Given the description of an element on the screen output the (x, y) to click on. 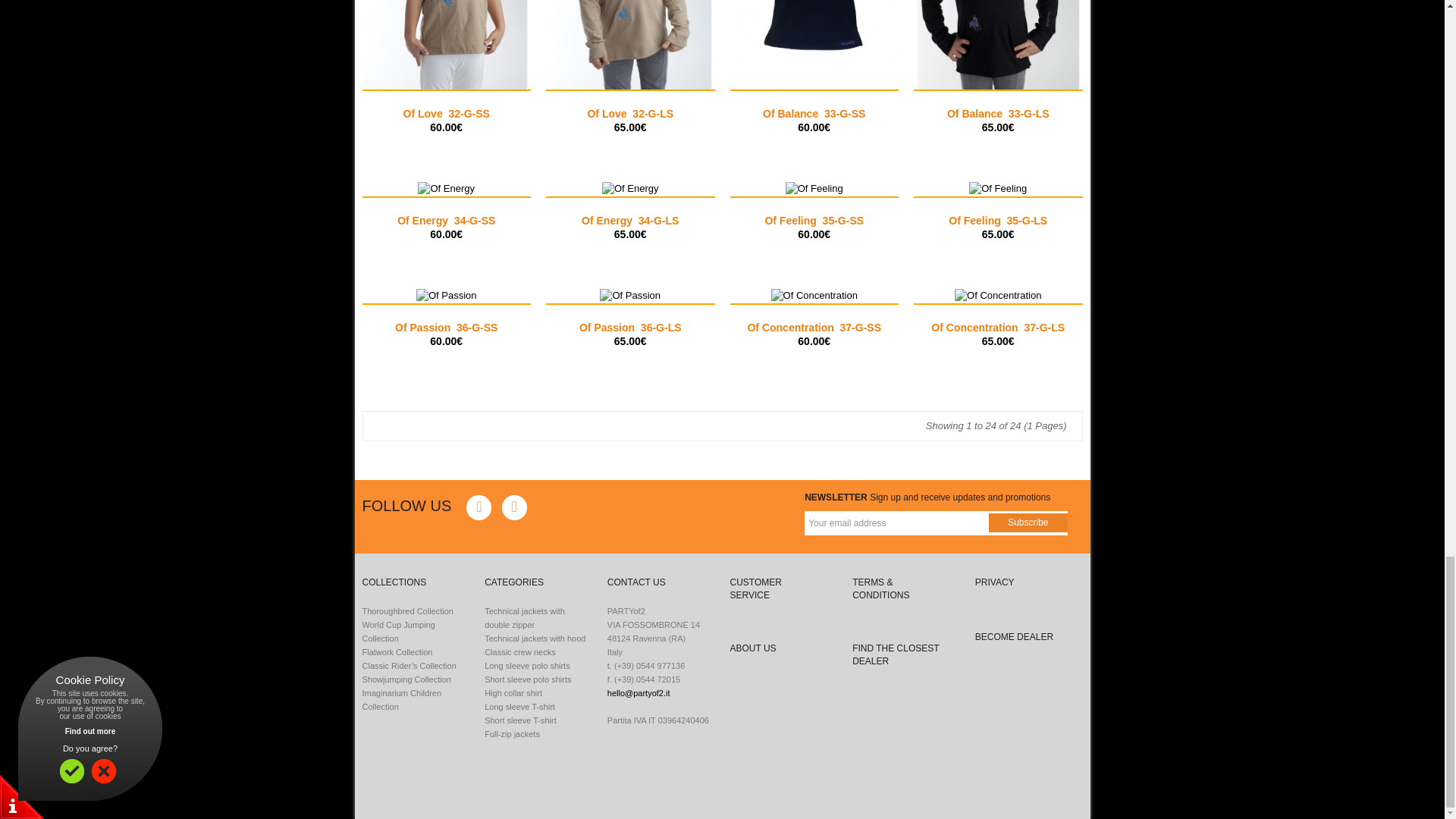
Your email address (891, 523)
Subscribe (1027, 522)
